Given the description of an element on the screen output the (x, y) to click on. 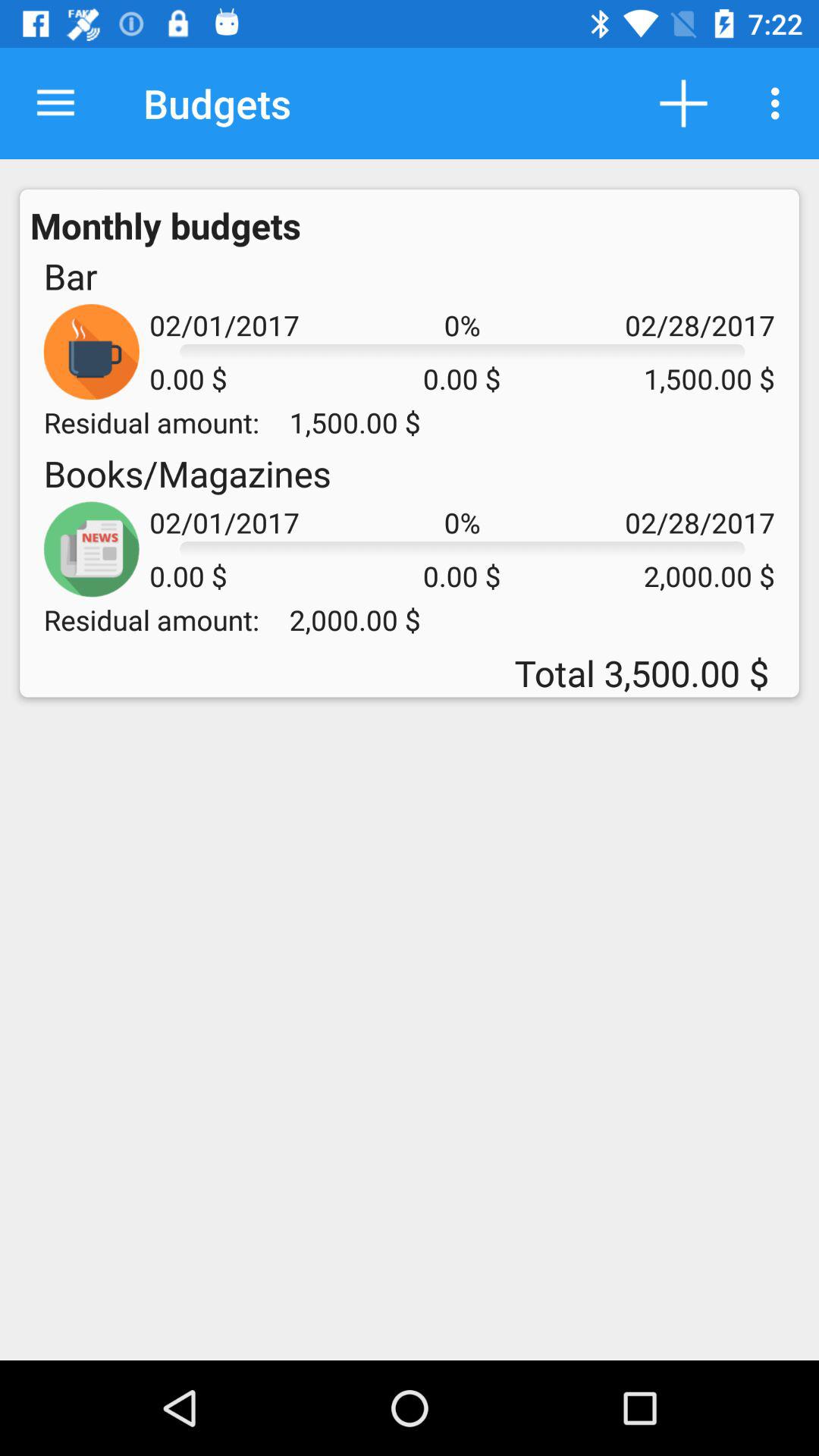
click item to the right of budgets (683, 103)
